Given the description of an element on the screen output the (x, y) to click on. 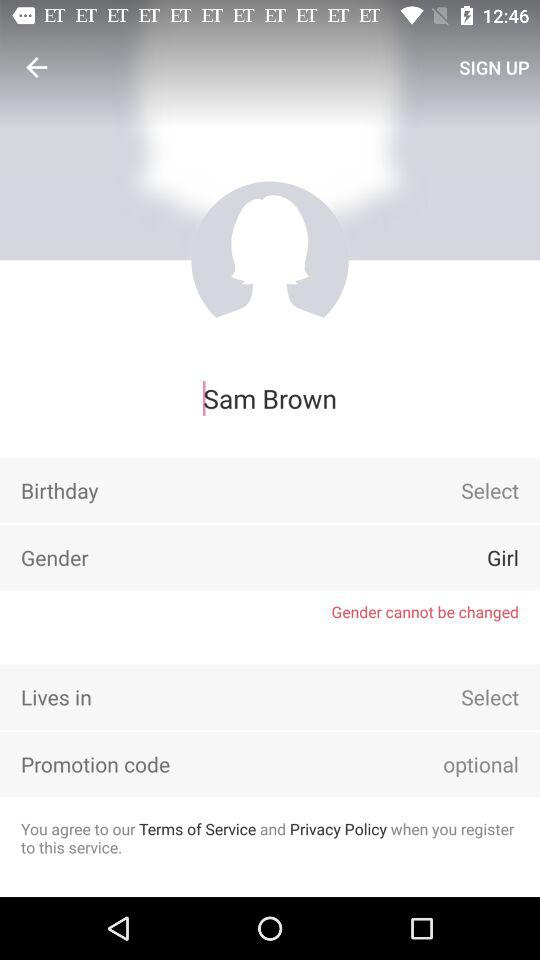
flip to the sam brown icon (270, 398)
